Given the description of an element on the screen output the (x, y) to click on. 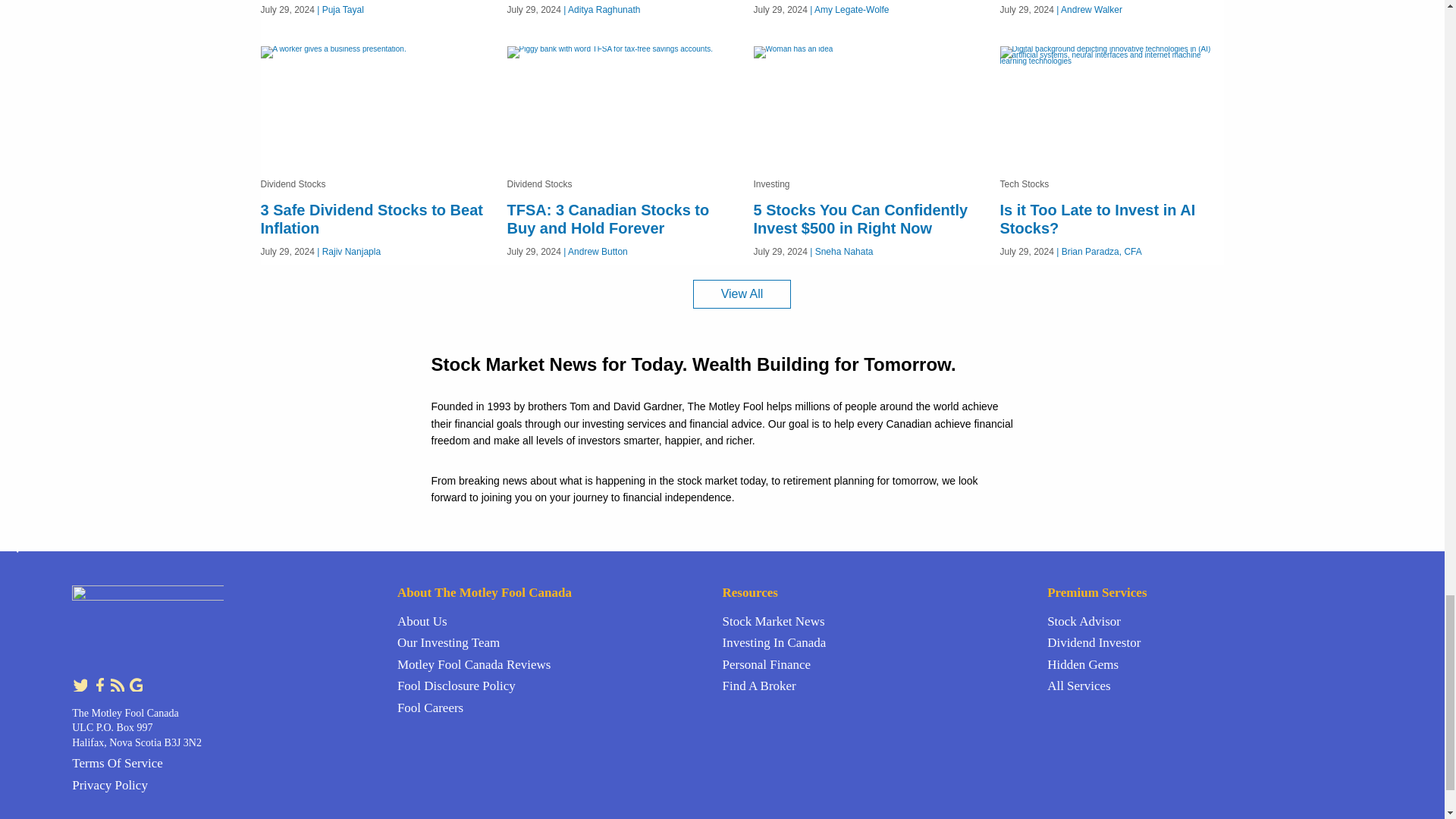
Follow us on Google News (135, 683)
Subscribe to our feed (118, 683)
Follow us on Twitter (80, 683)
Like us on Facebook (99, 683)
